Given the description of an element on the screen output the (x, y) to click on. 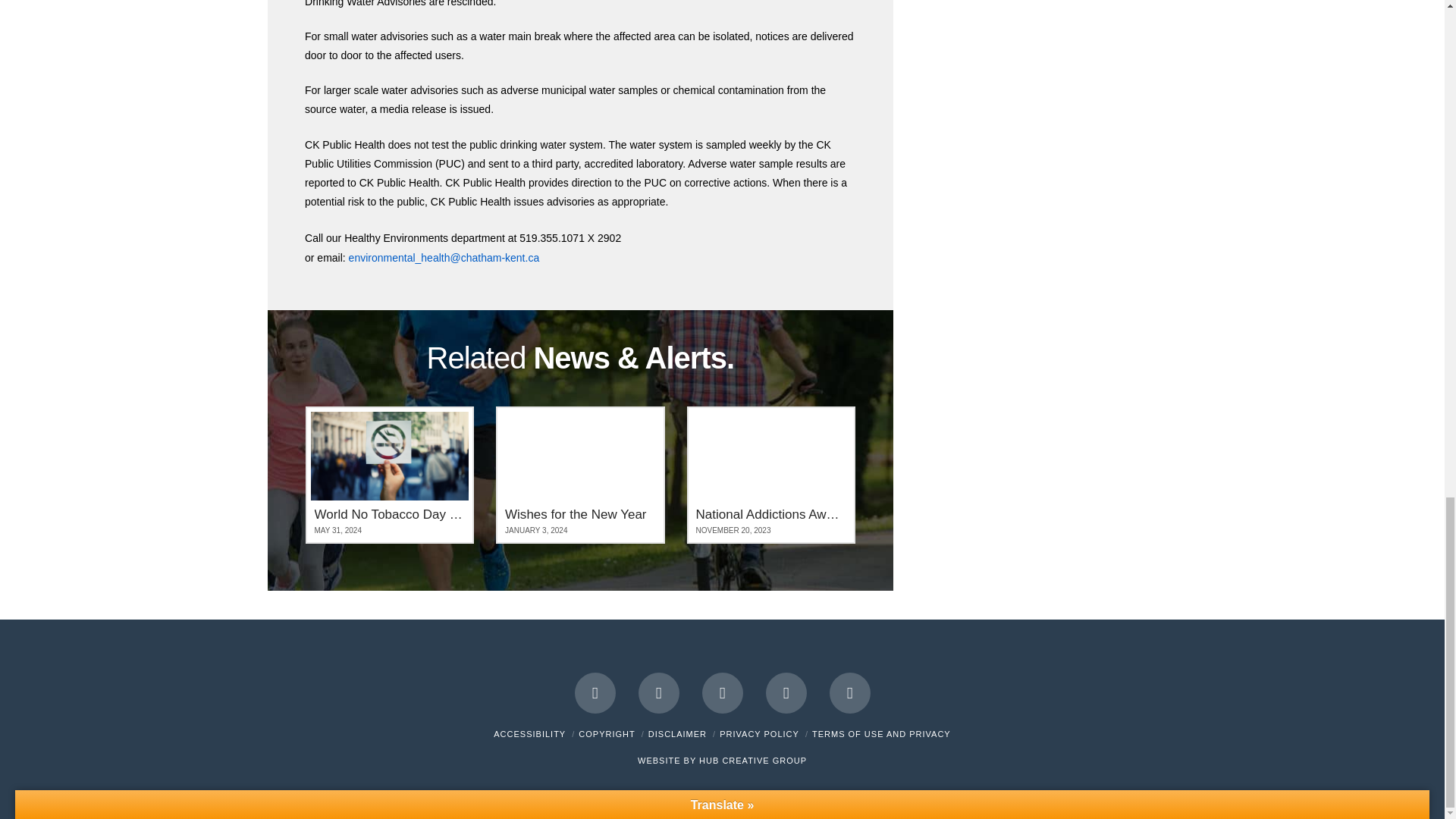
YouTube (721, 692)
Facebook (595, 692)
Permalink to: "World No Tobacco Day 2024" (389, 474)
HUB Creative Group (752, 759)
Permalink to: "Wishes for the New Year" (580, 474)
Instagram (785, 692)
Permalink to: "National Addictions Awareness Week 2023" (771, 474)
RSS (849, 692)
